Given the description of an element on the screen output the (x, y) to click on. 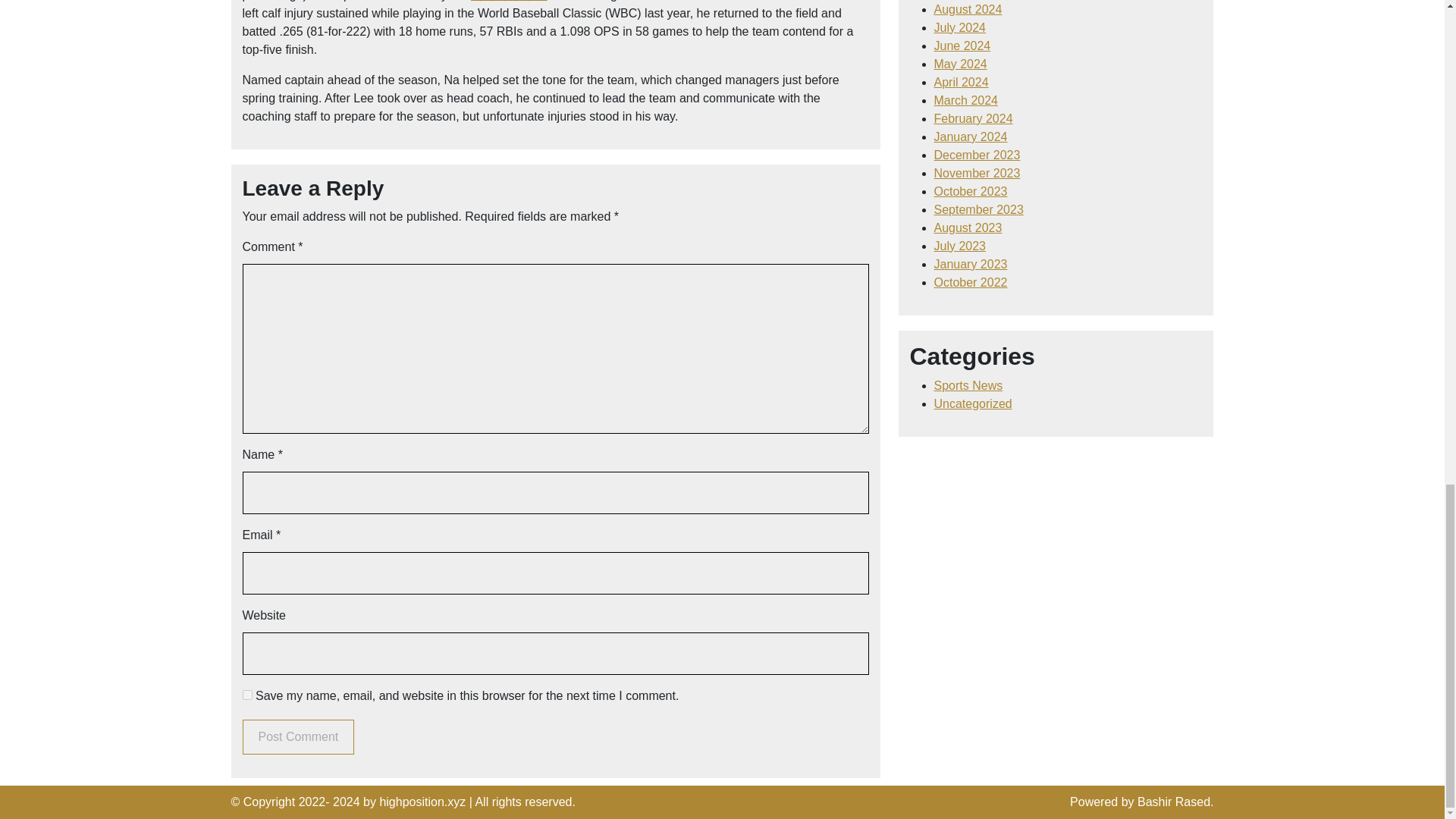
April 2024 (961, 82)
October 2023 (970, 191)
December 2023 (977, 154)
Post Comment (299, 736)
August 2024 (968, 9)
yes (247, 695)
Post Comment (299, 736)
August 2023 (968, 227)
February 2024 (973, 118)
June 2024 (962, 45)
July 2024 (960, 27)
January 2024 (970, 136)
May 2024 (960, 63)
March 2024 (966, 100)
September 2023 (978, 209)
